Given the description of an element on the screen output the (x, y) to click on. 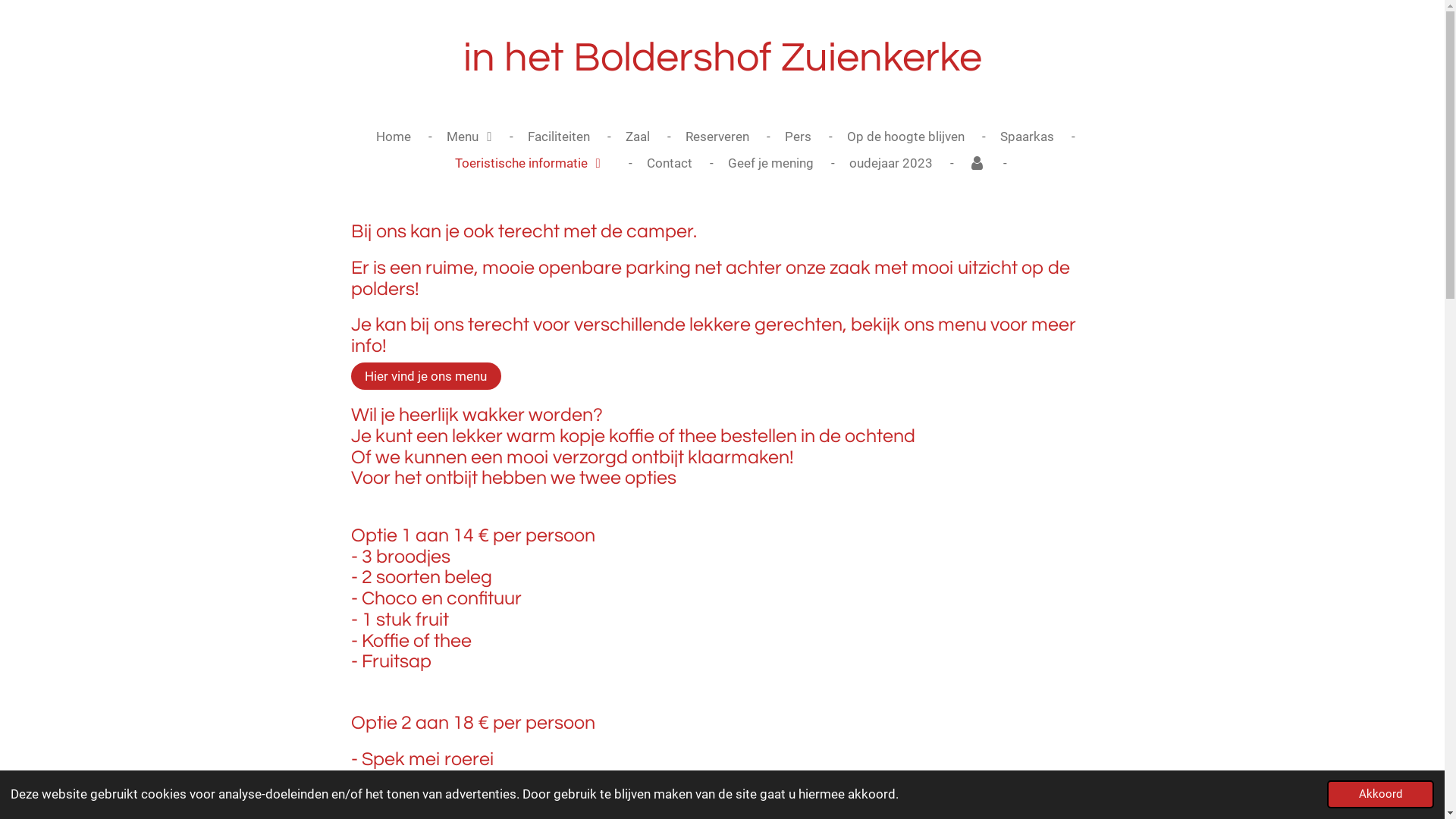
Contact Element type: text (669, 163)
Geef je mening Element type: text (770, 163)
Hier vind je ons menu Element type: text (425, 375)
in het Boldershof Zuienkerke Element type: text (721, 57)
Pers Element type: text (797, 136)
Account Element type: hover (977, 163)
Home Element type: text (393, 136)
Zaal Element type: text (636, 136)
oudejaar 2023 Element type: text (890, 163)
Akkoord Element type: text (1380, 794)
Faciliteiten Element type: text (558, 136)
Spaarkas Element type: text (1025, 136)
Menu Element type: text (469, 136)
Toeristische informatie Element type: text (527, 163)
Op de hoogte blijven Element type: text (904, 136)
Reserveren Element type: text (716, 136)
